Given the description of an element on the screen output the (x, y) to click on. 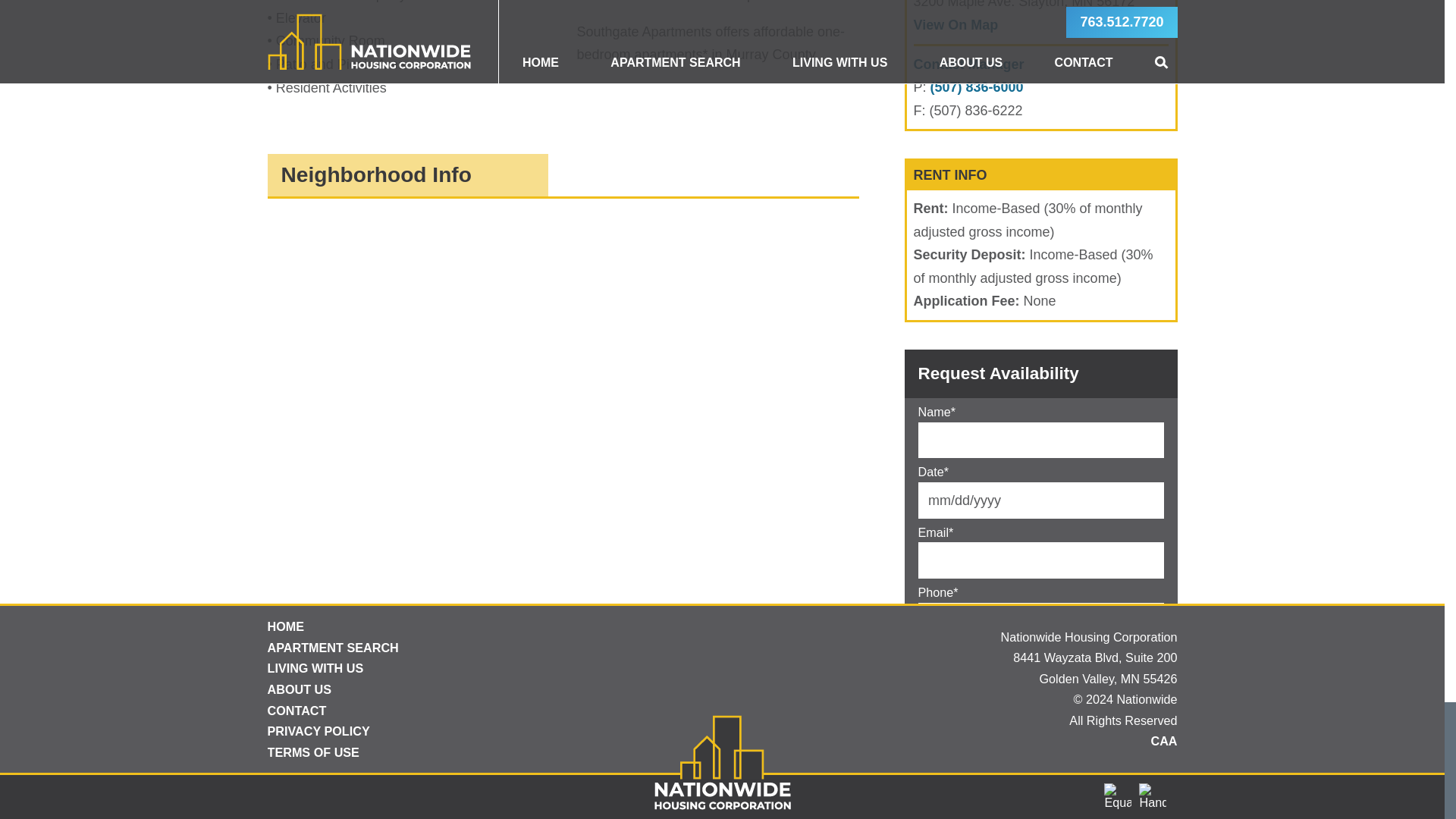
Nationwide Footer Title (721, 795)
Neighborhood Info (407, 174)
Submit Form (973, 748)
Handicap Accessible (1152, 796)
Privacy Policy (1038, 689)
ABOUT US (488, 689)
View On Map (954, 24)
APARTMENT SEARCH (488, 647)
Contact Manager (967, 64)
Find Us On Google Maps (954, 24)
